Given the description of an element on the screen output the (x, y) to click on. 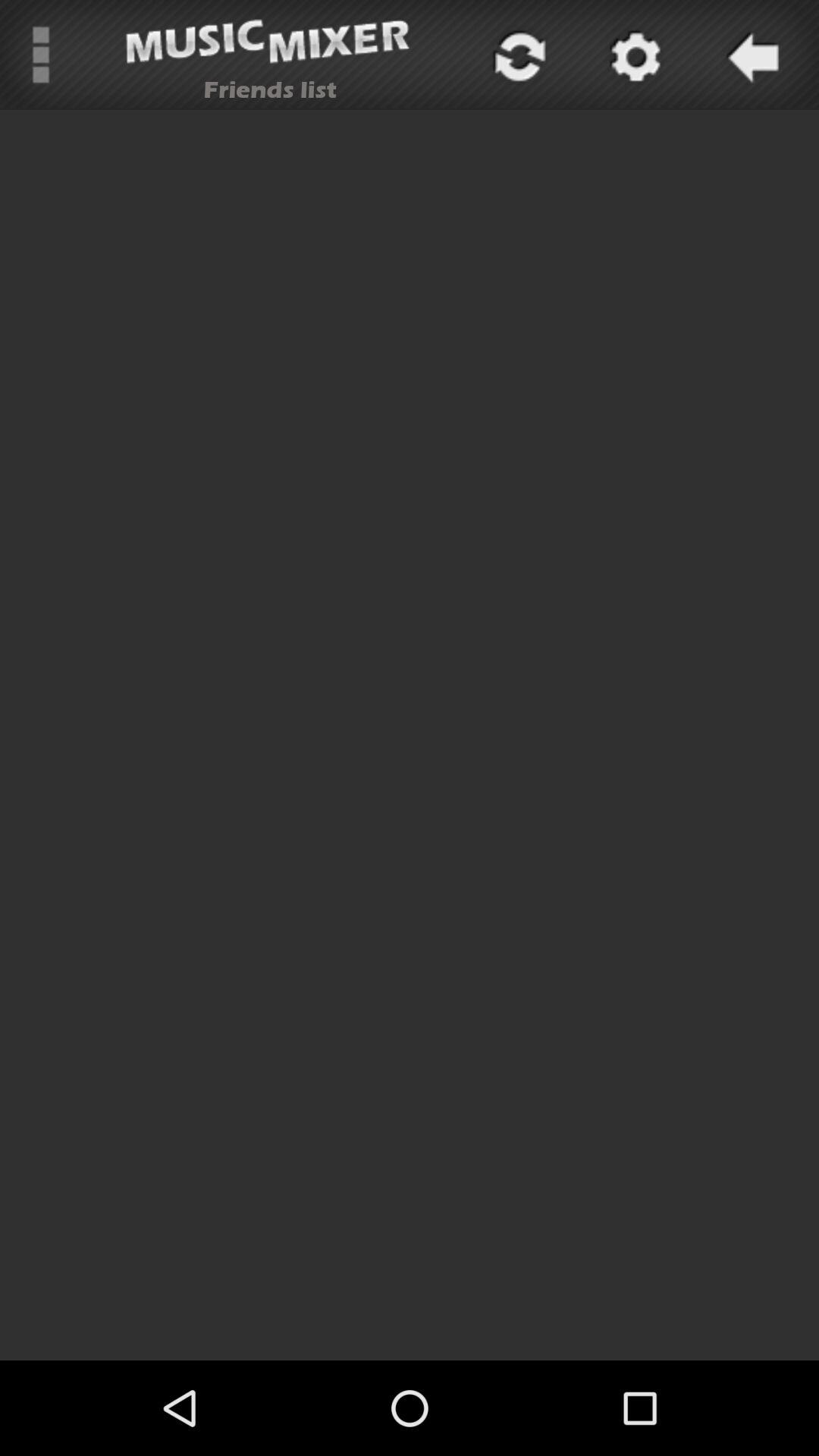
refresh (516, 54)
